Given the description of an element on the screen output the (x, y) to click on. 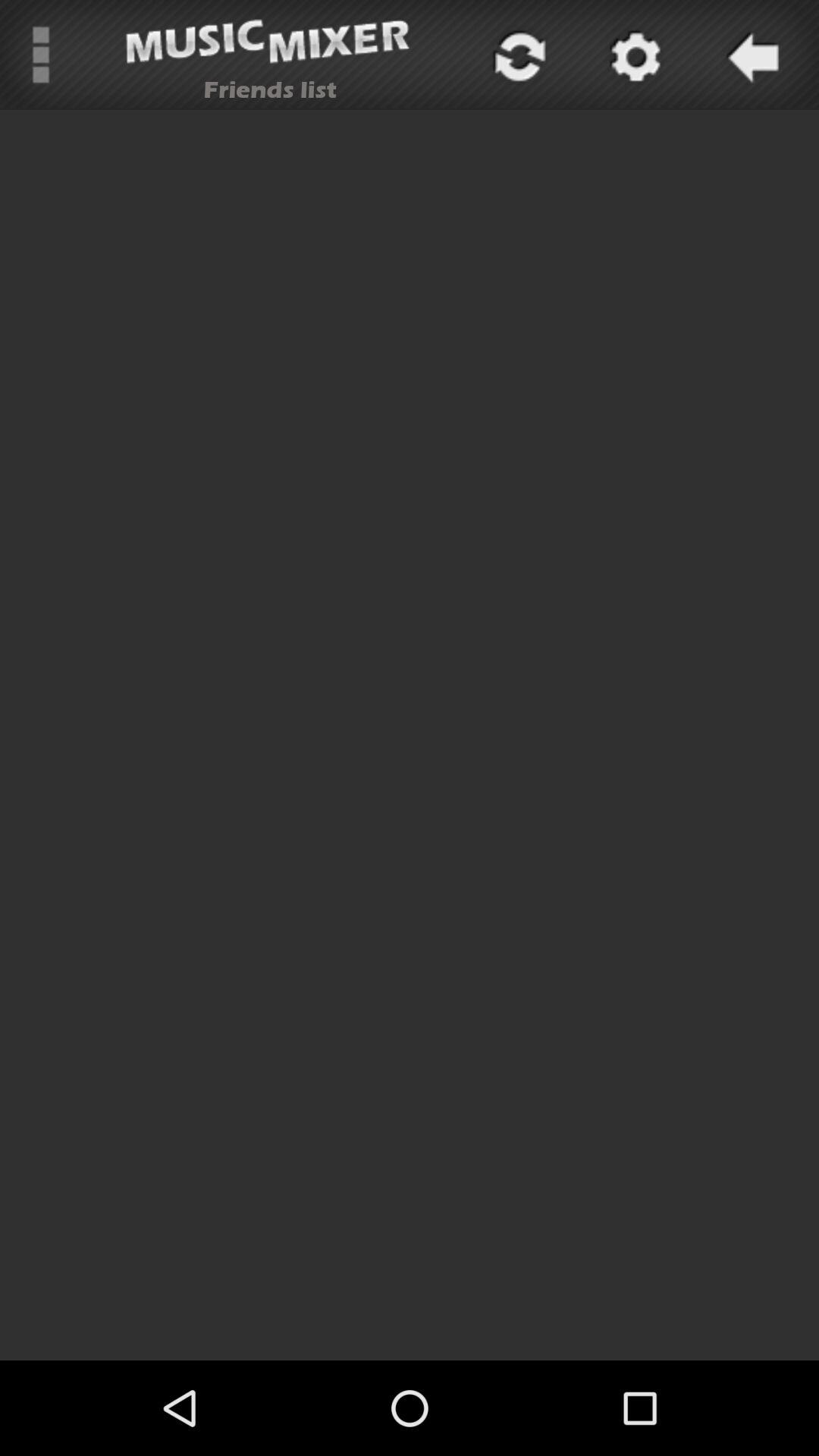
refresh (516, 54)
